Given the description of an element on the screen output the (x, y) to click on. 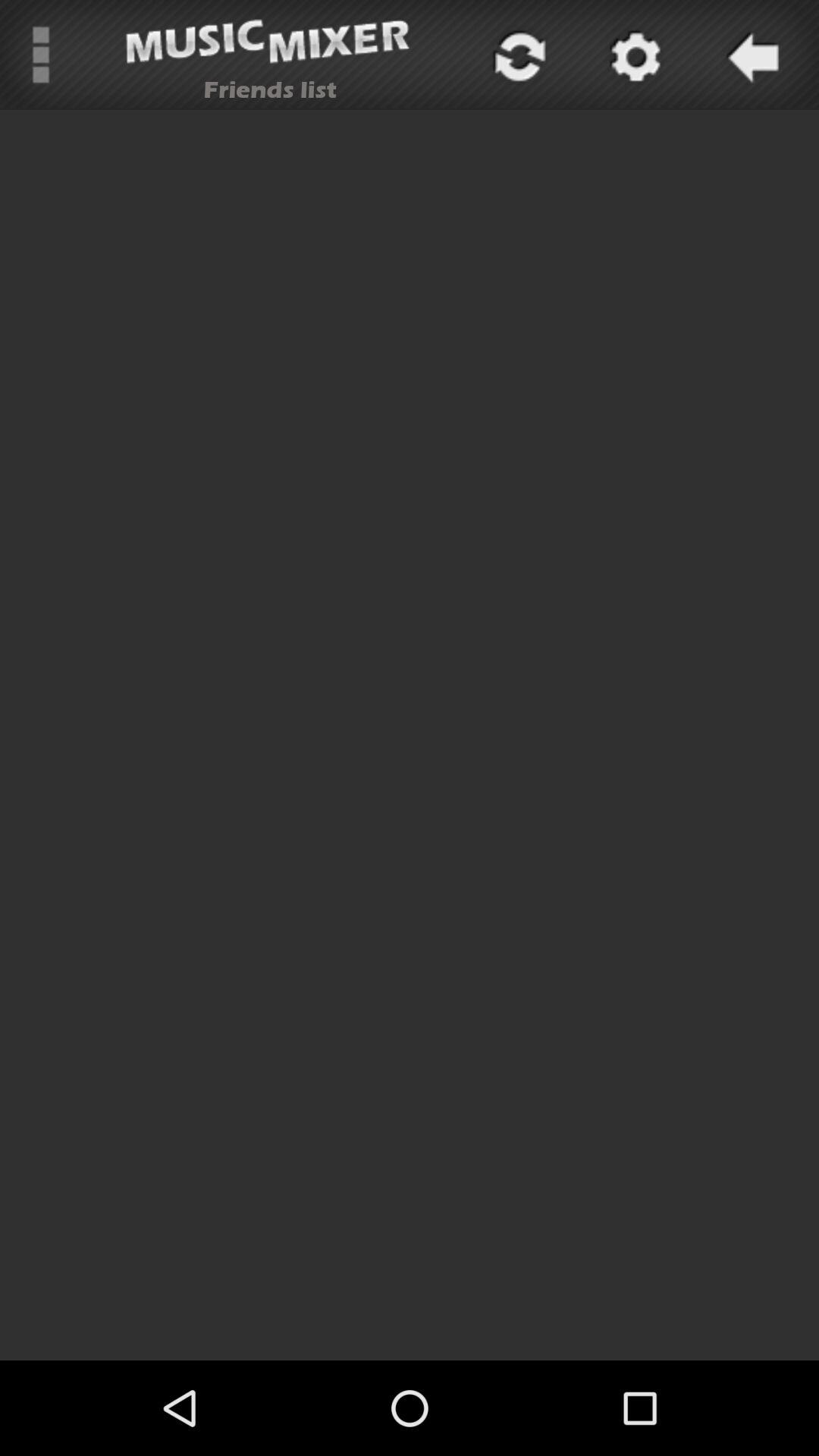
refresh (516, 54)
